Given the description of an element on the screen output the (x, y) to click on. 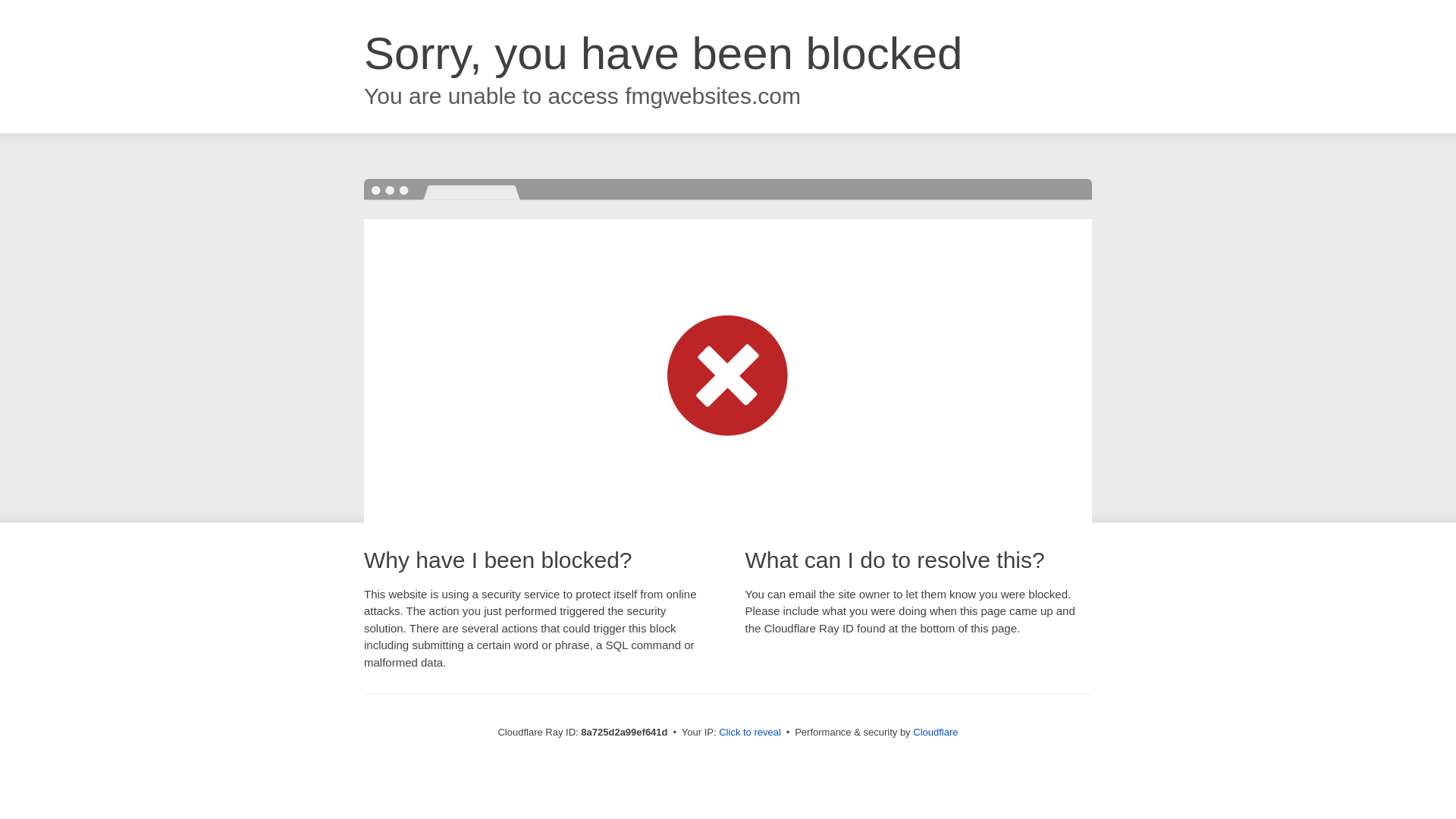
Click to reveal (749, 732)
Cloudflare (935, 731)
